Given the description of an element on the screen output the (x, y) to click on. 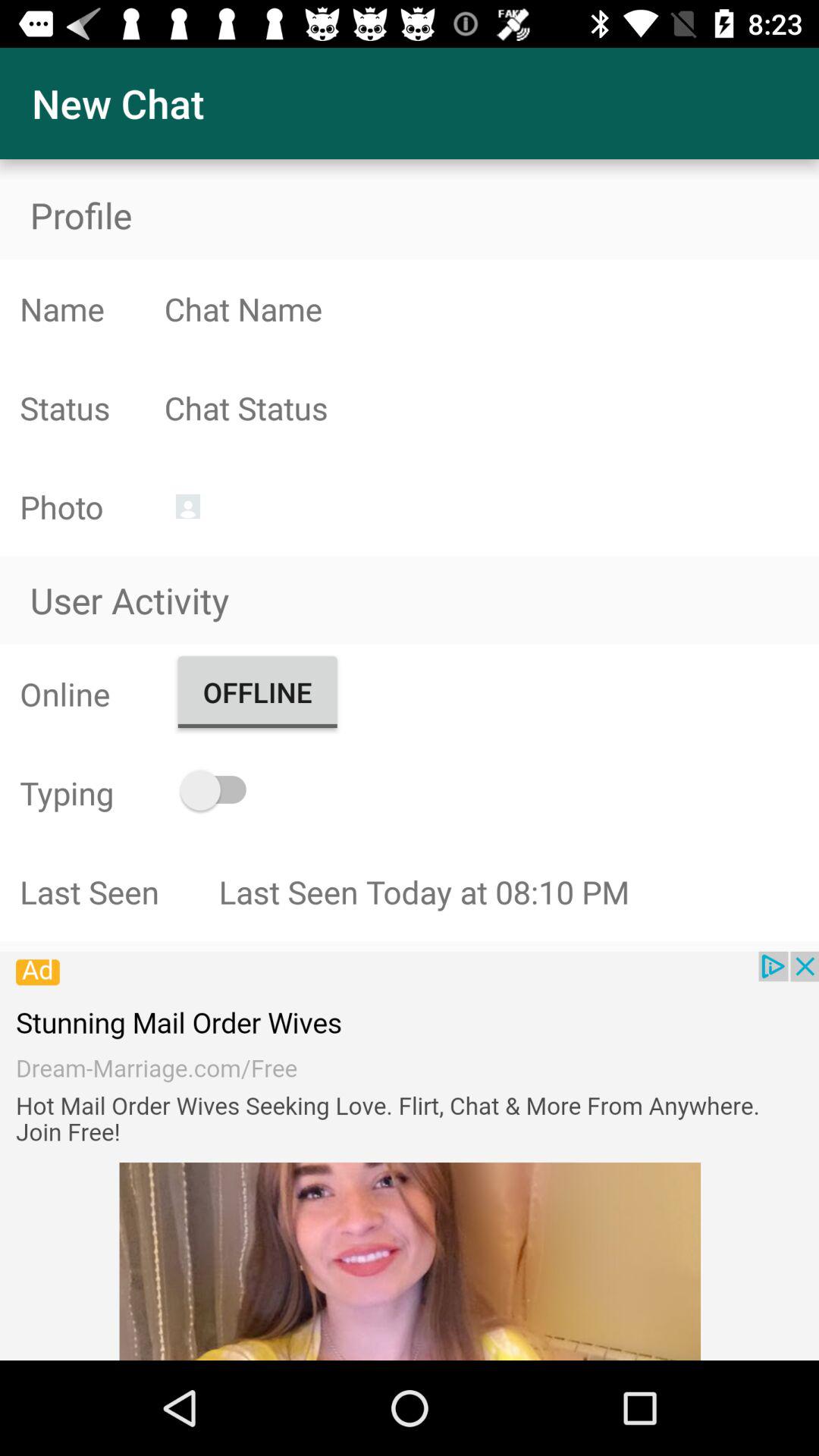
enter chat name (491, 308)
